Given the description of an element on the screen output the (x, y) to click on. 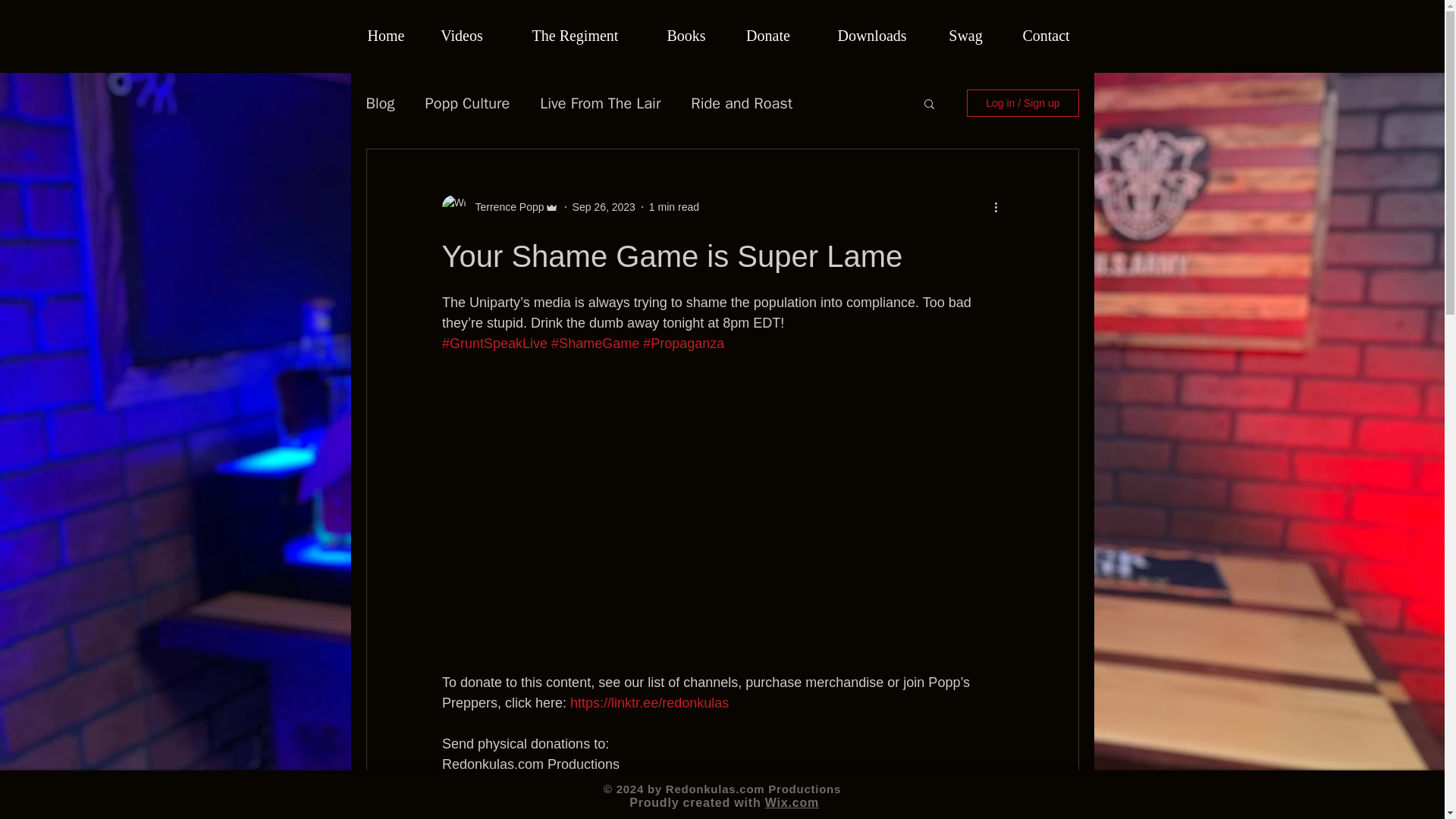
Donate (767, 35)
Live From The Lair (600, 102)
Swag (965, 35)
Popp Culture (467, 102)
Books (686, 35)
Blog (379, 102)
Downloads (871, 35)
Terrence Popp (504, 206)
Contact (1045, 35)
Videos (461, 35)
